Given the description of an element on the screen output the (x, y) to click on. 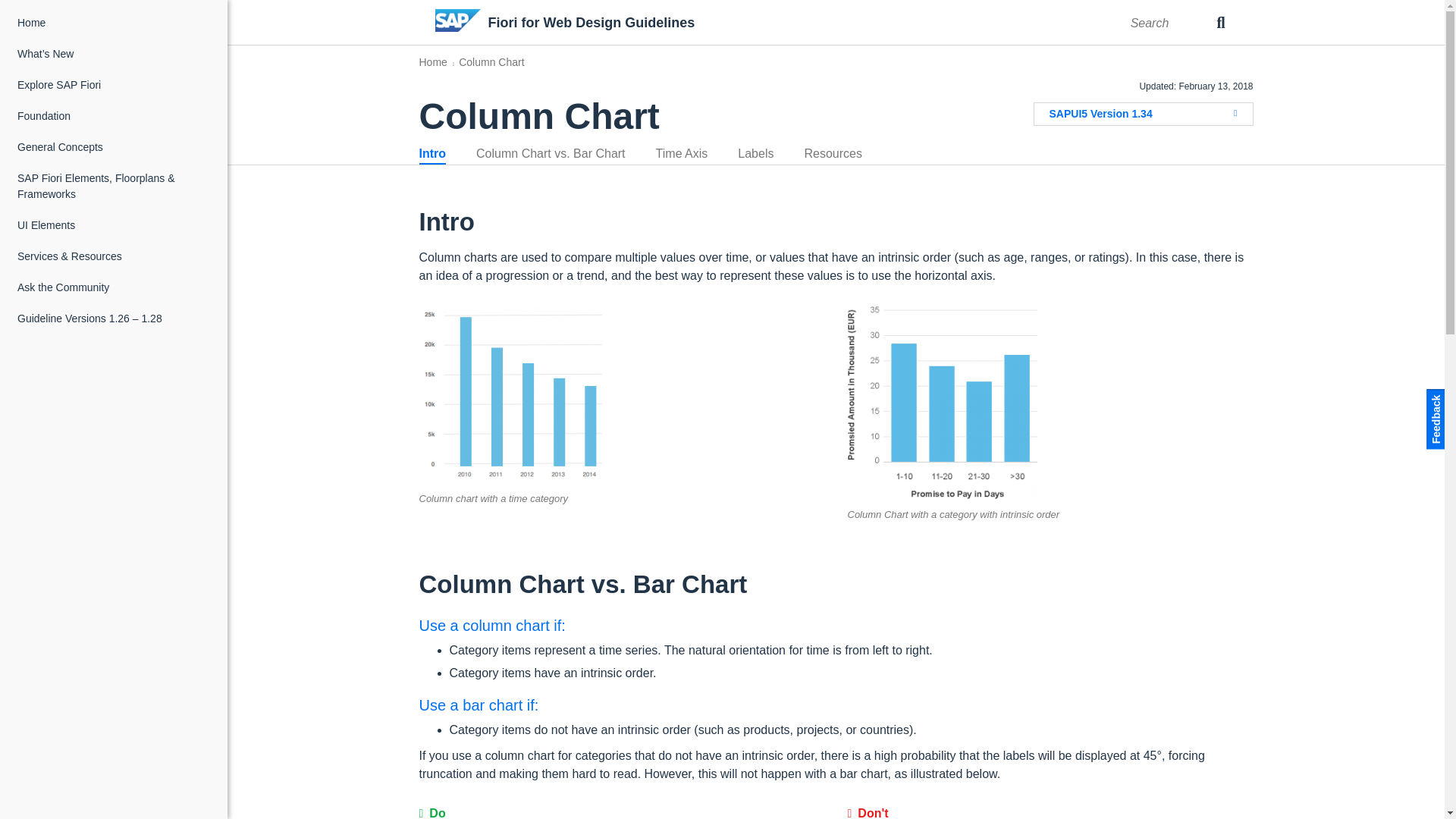
Explore SAP Fiori (114, 84)
General Concepts (114, 146)
Foundation (114, 115)
Home (114, 22)
